Given the description of an element on the screen output the (x, y) to click on. 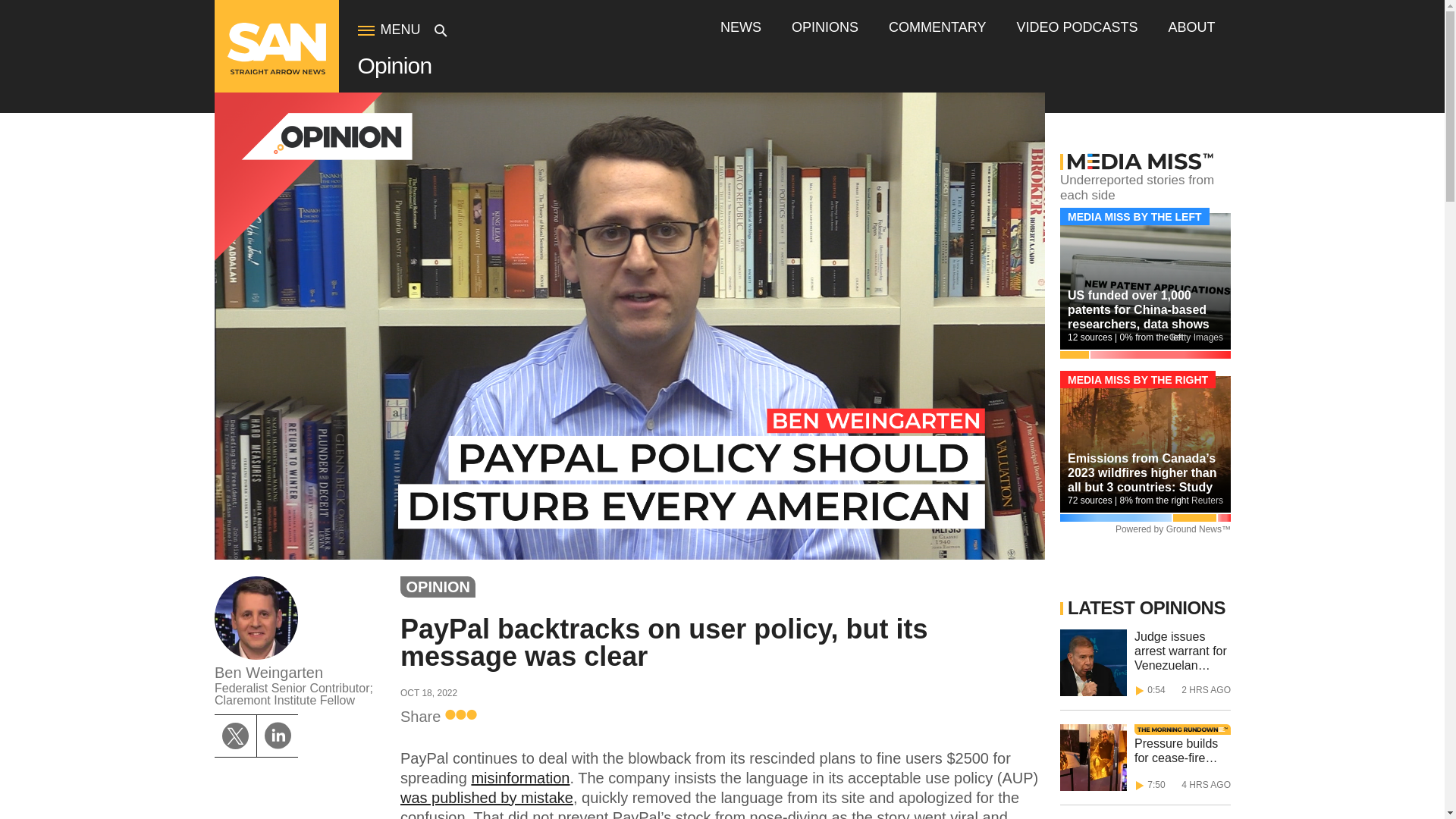
NEWS (740, 27)
ABOUT (1190, 27)
VIDEO PODCASTS (1076, 27)
COMMENTARY (936, 27)
Home (276, 70)
OPINIONS (825, 27)
